Given the description of an element on the screen output the (x, y) to click on. 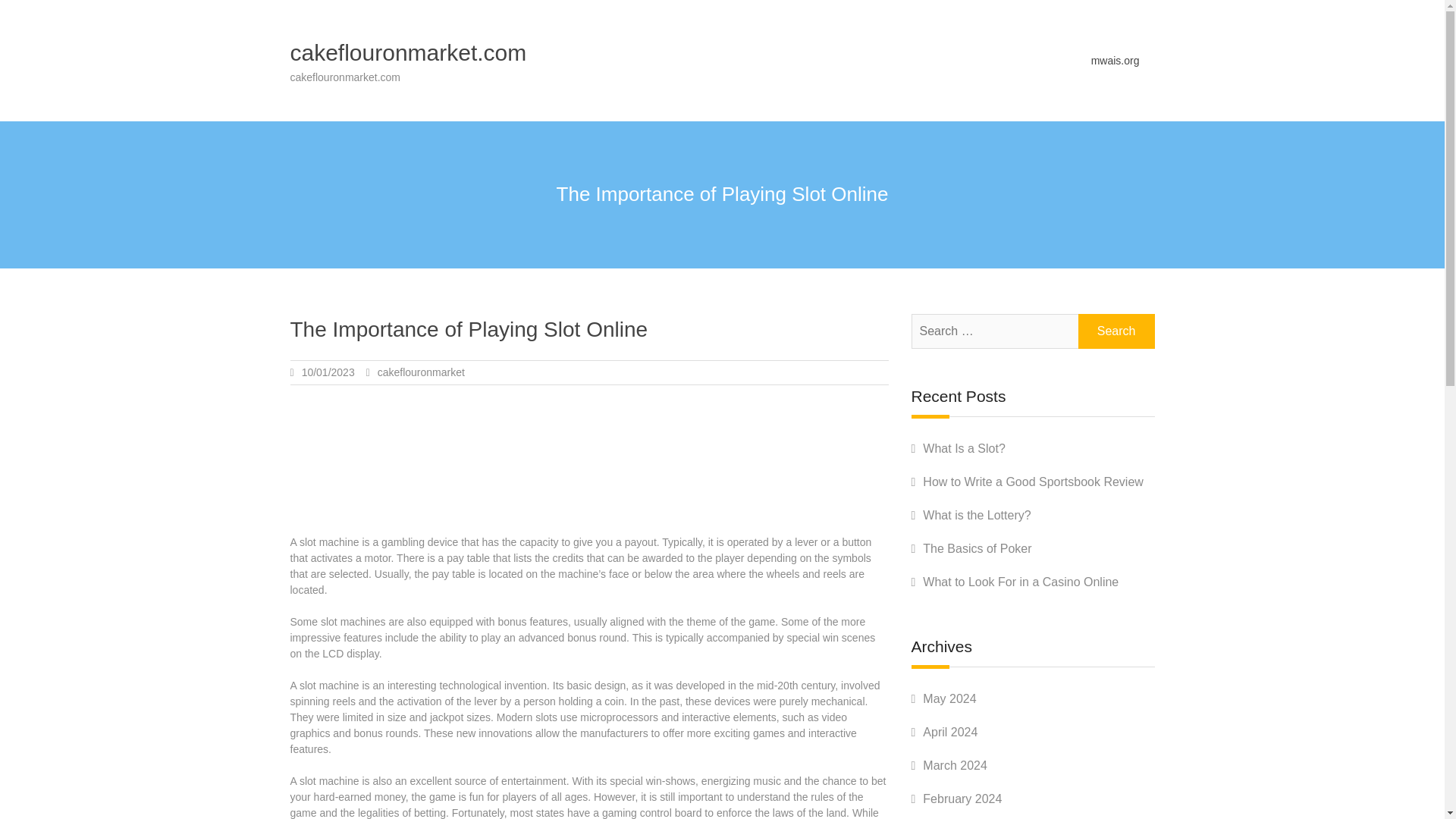
April 2024 (949, 731)
Search (1116, 330)
How to Write a Good Sportsbook Review (1032, 481)
cakeflouronmarket.com (407, 52)
What is the Lottery? (976, 514)
March 2024 (955, 765)
The Basics of Poker (976, 548)
cakeflouronmarket (420, 372)
Search (1116, 330)
mwais.org (1114, 59)
What Is a Slot? (964, 448)
May 2024 (949, 698)
What to Look For in a Casino Online (1020, 581)
Search (1116, 330)
February 2024 (962, 798)
